Given the description of an element on the screen output the (x, y) to click on. 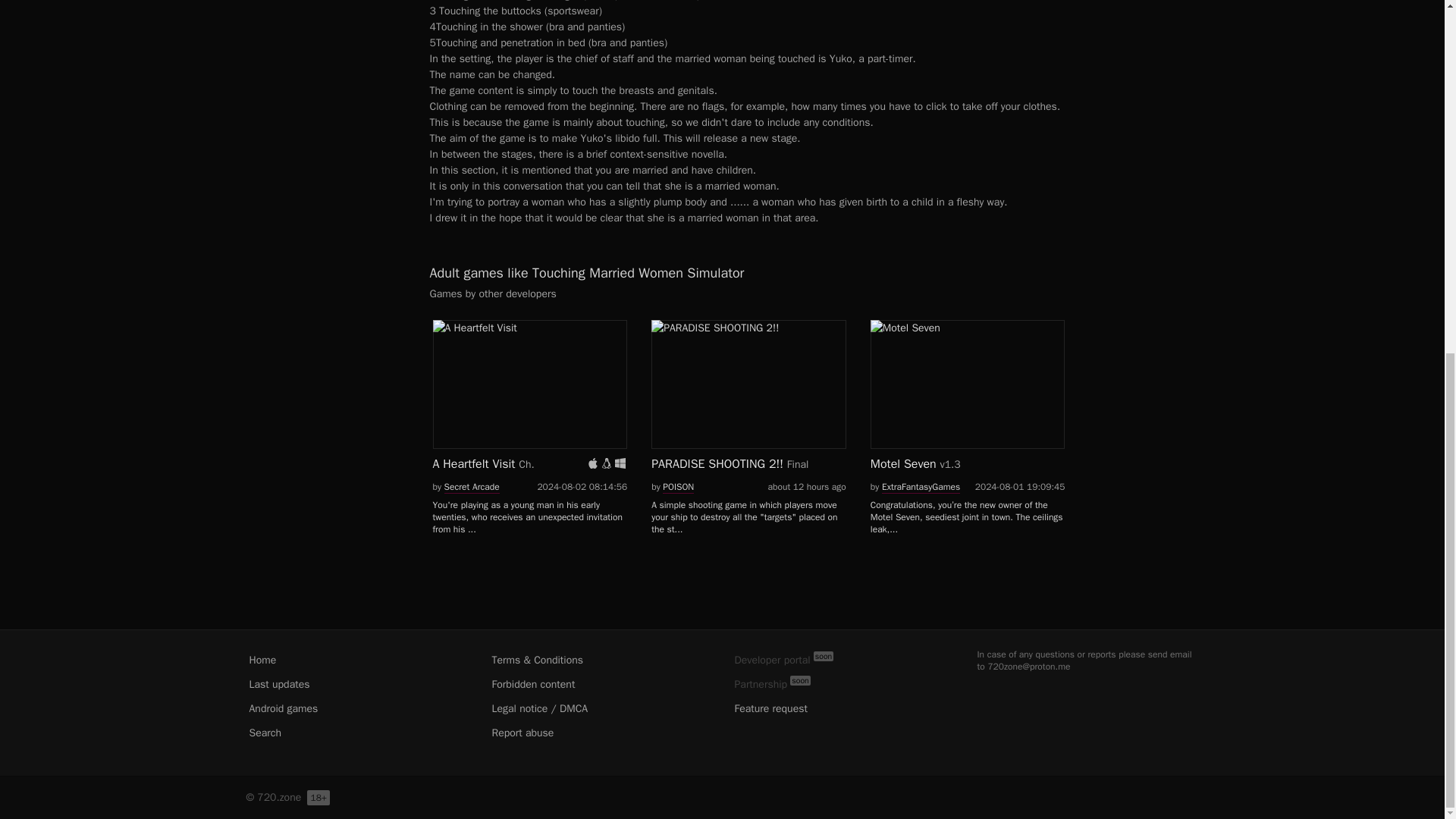
Motel Seven v1.3 (967, 398)
Motel Seven (967, 384)
ExtraFantasyGames (920, 486)
A Heartfelt Visit Ch. (529, 398)
POISON (678, 486)
A Heartfelt Visit (529, 384)
Available for windows (620, 462)
Available for apple (593, 462)
PARADISE SHOOTING 2!! (747, 384)
PARADISE SHOOTING 2!! Final (747, 398)
Secret Arcade (471, 486)
Available for linux (606, 462)
